Given the description of an element on the screen output the (x, y) to click on. 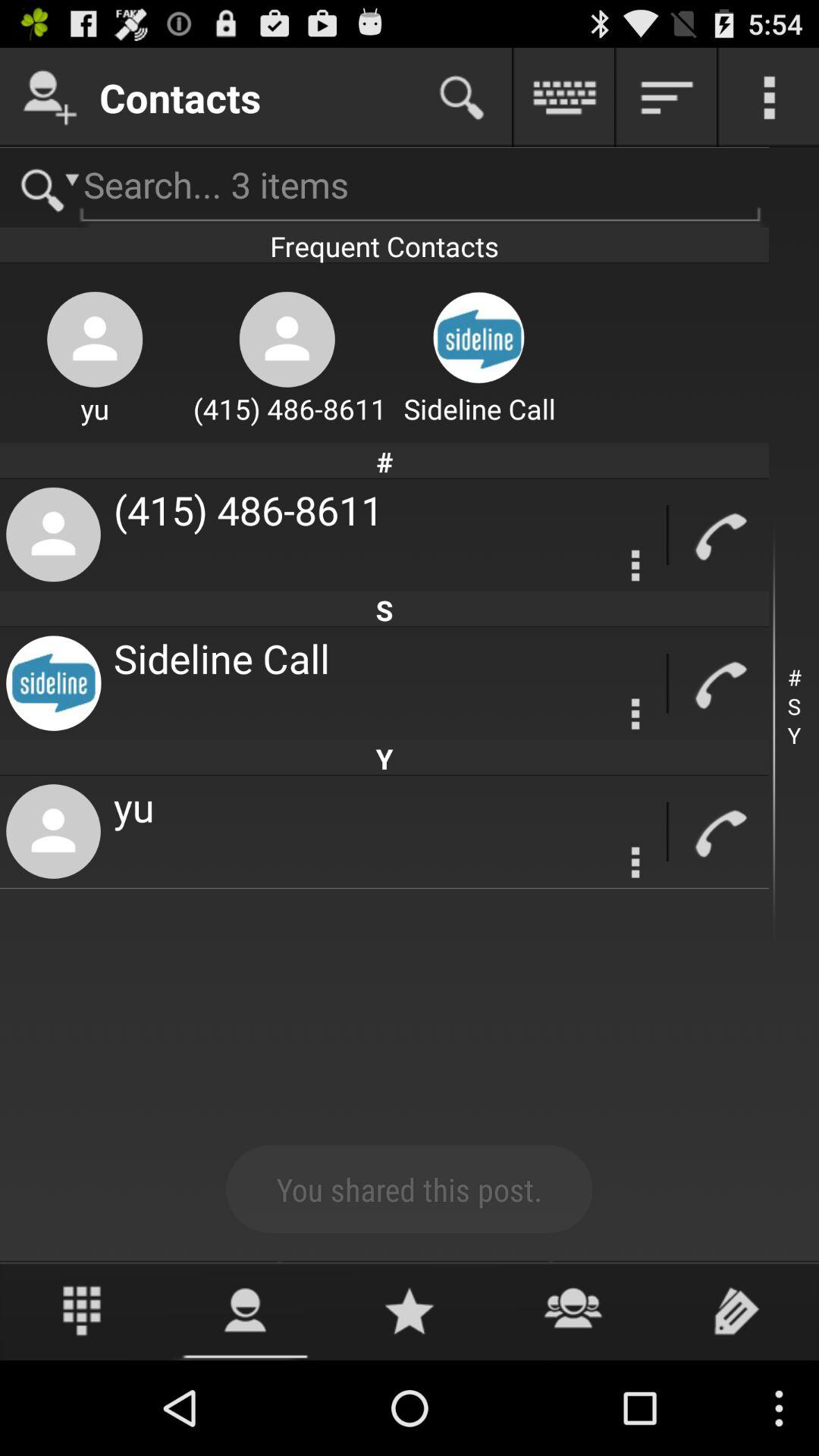
keyboard (564, 97)
